Given the description of an element on the screen output the (x, y) to click on. 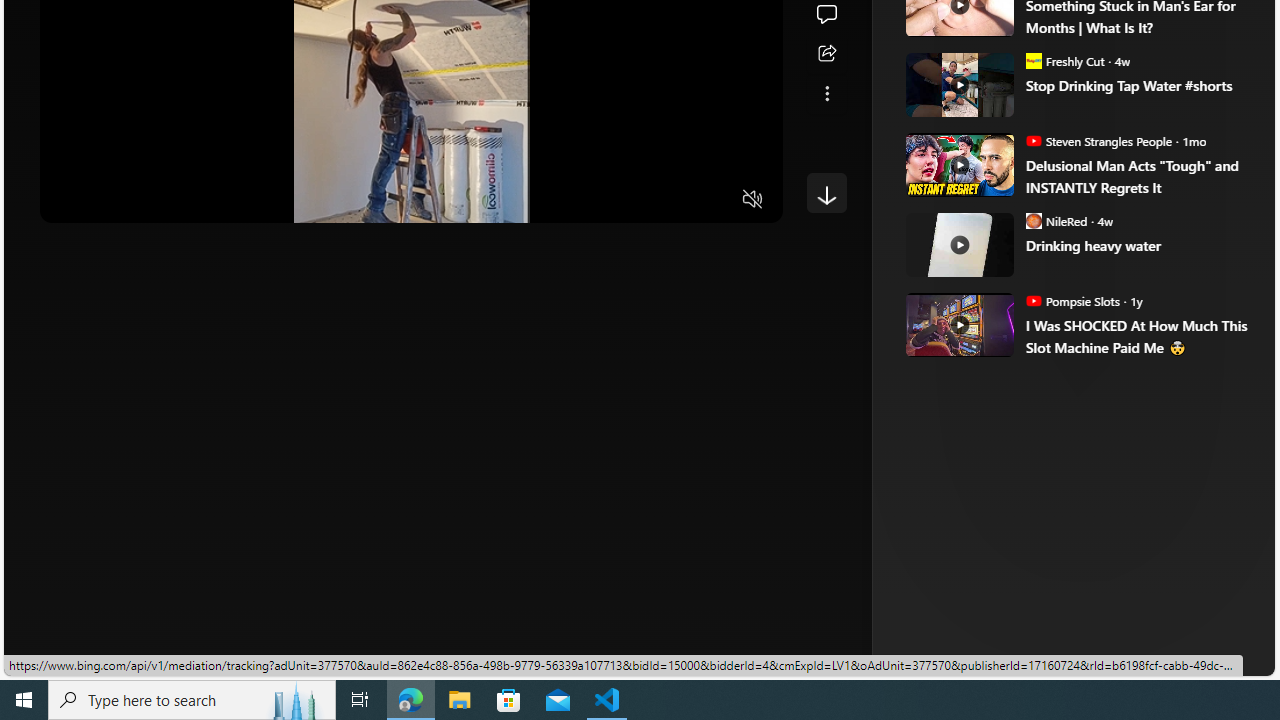
AutomationID: e5rZOEMGacU1 (826, 192)
Feedback (1199, 659)
ABC News (974, 12)
Stop Drinking Tap Water #shorts (958, 83)
NileRed NileRed (1056, 219)
Pause (69, 200)
Steven Strangles People Steven Strangles People (1098, 140)
Seek Back (109, 200)
NileRed (1033, 219)
Drinking heavy water (958, 244)
Freshly Cut Freshly Cut (1064, 60)
Captions (675, 200)
